Given the description of an element on the screen output the (x, y) to click on. 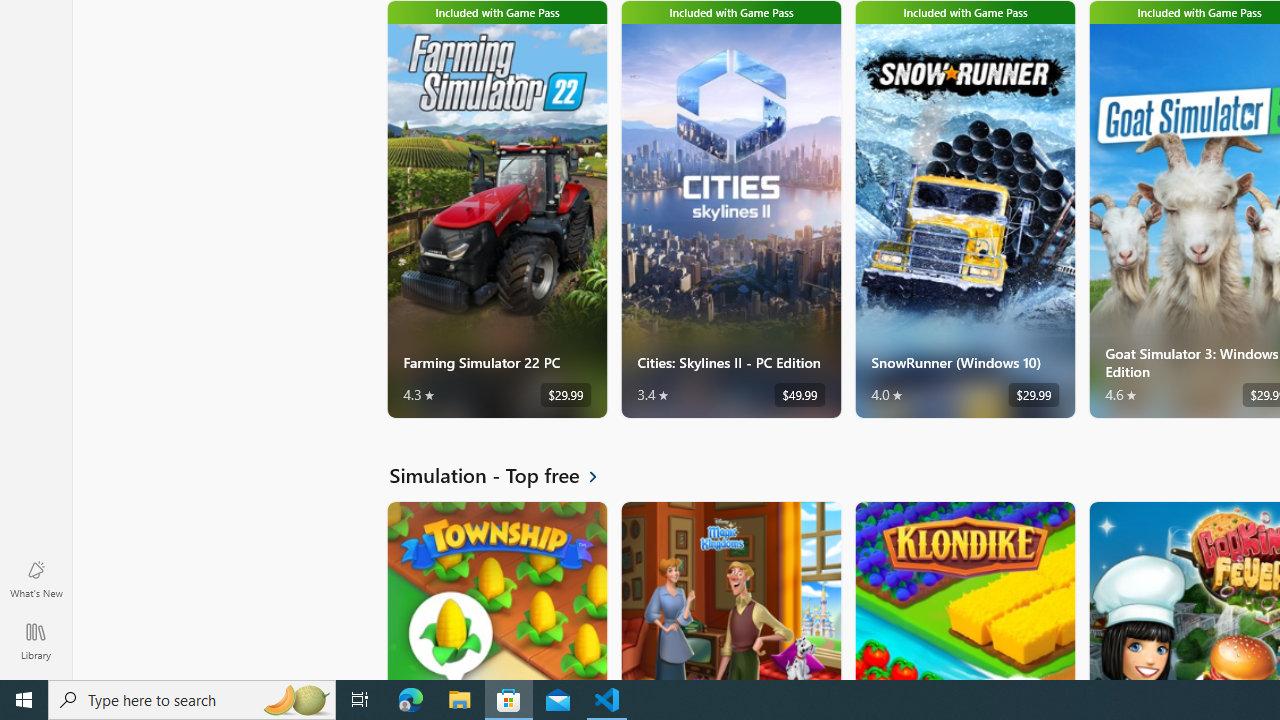
Library (35, 640)
See all  Simulation - Top free (505, 475)
What's New (35, 578)
Township. Average rating of 4.5 out of five stars. Free   (497, 590)
